Given the description of an element on the screen output the (x, y) to click on. 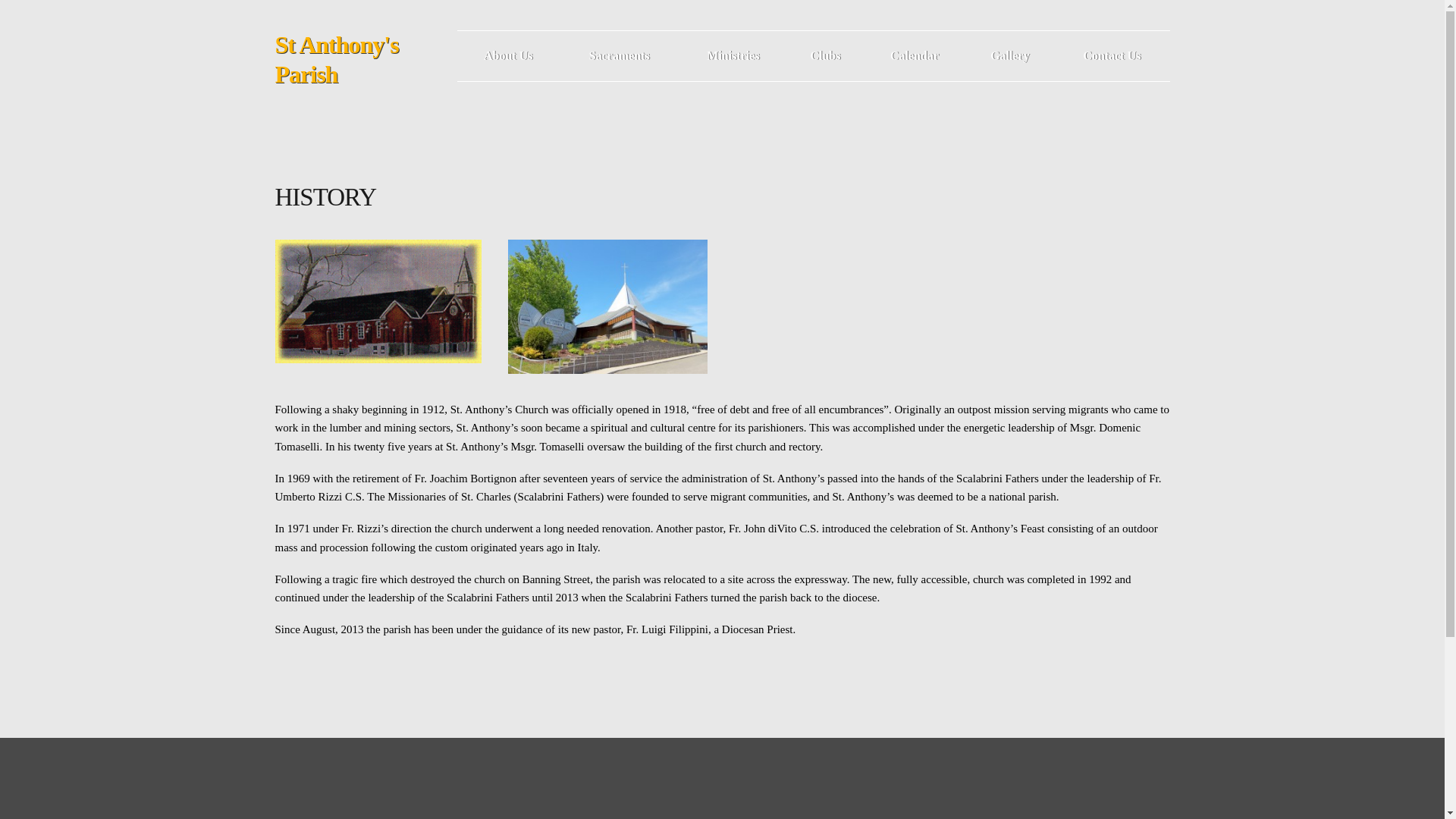
Ministries (733, 56)
About Us (508, 56)
Gallery (1009, 56)
St Anthony'S Parish (366, 55)
Sacraments (619, 56)
Clubs (825, 56)
Calendar (914, 56)
